Given the description of an element on the screen output the (x, y) to click on. 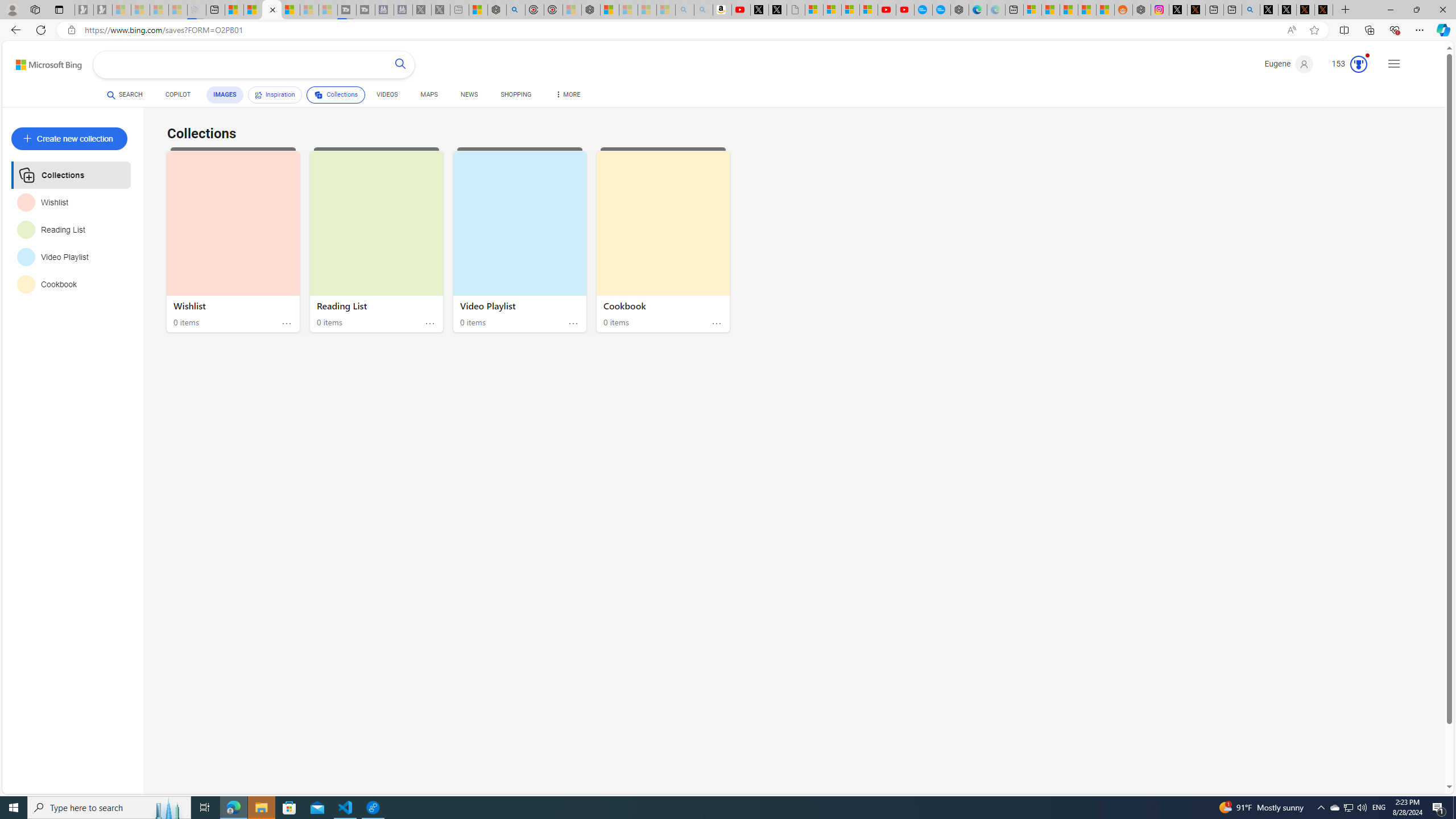
InspirationCollections (306, 96)
Nordace - Nordace Siena Is Not An Ordinary Backpack (590, 9)
Shanghai, China hourly forecast | Microsoft Weather (1069, 9)
Eugene (1288, 63)
IMAGES (224, 94)
Inspiration (274, 94)
Microsoft Rewards 153 (1345, 63)
